Given the description of an element on the screen output the (x, y) to click on. 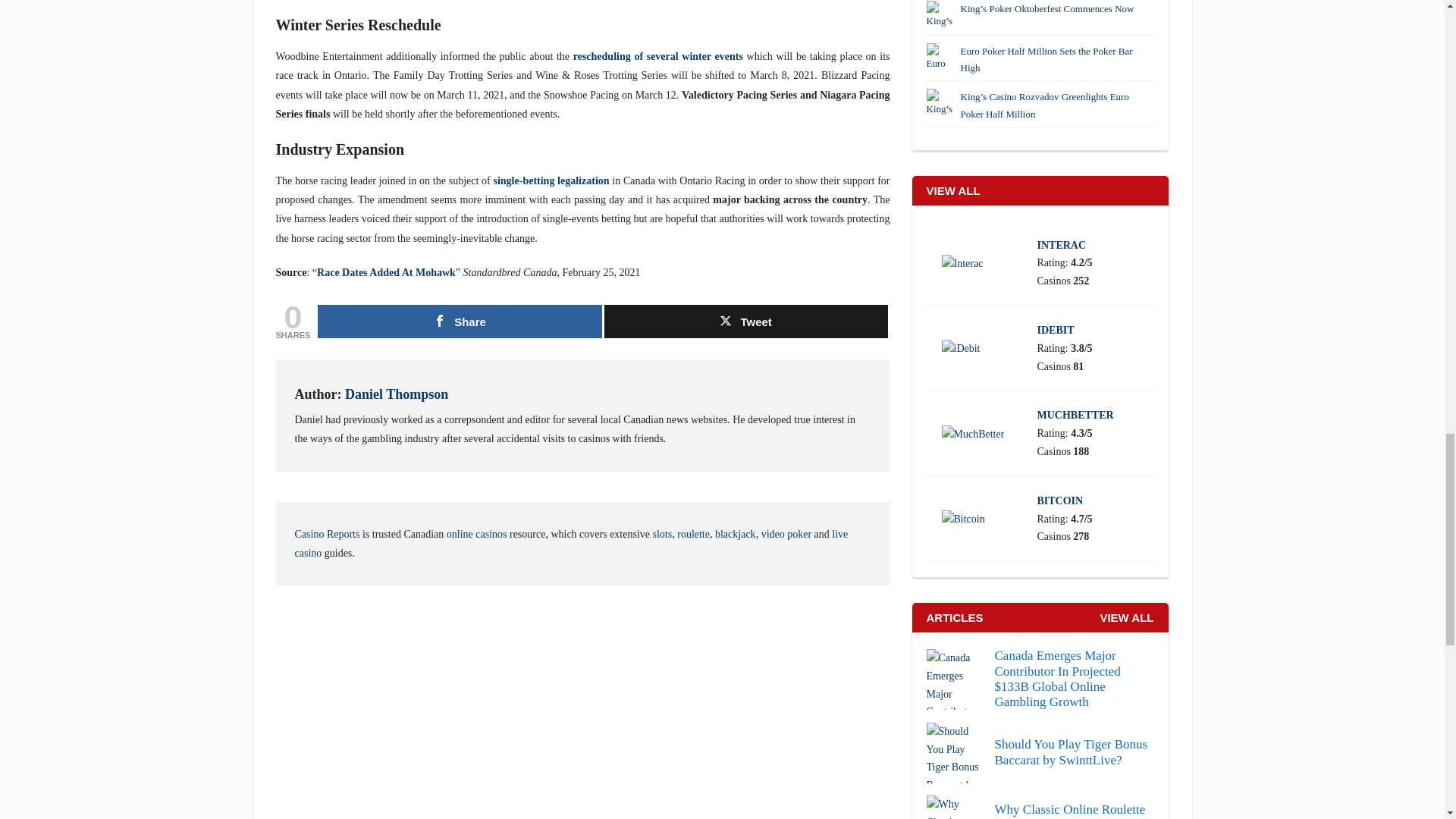
Euro Poker Half Million Sets the Poker Bar High (941, 58)
Should You Play Tiger Bonus Baccarat by SwinttLive? (1040, 752)
